Given the description of an element on the screen output the (x, y) to click on. 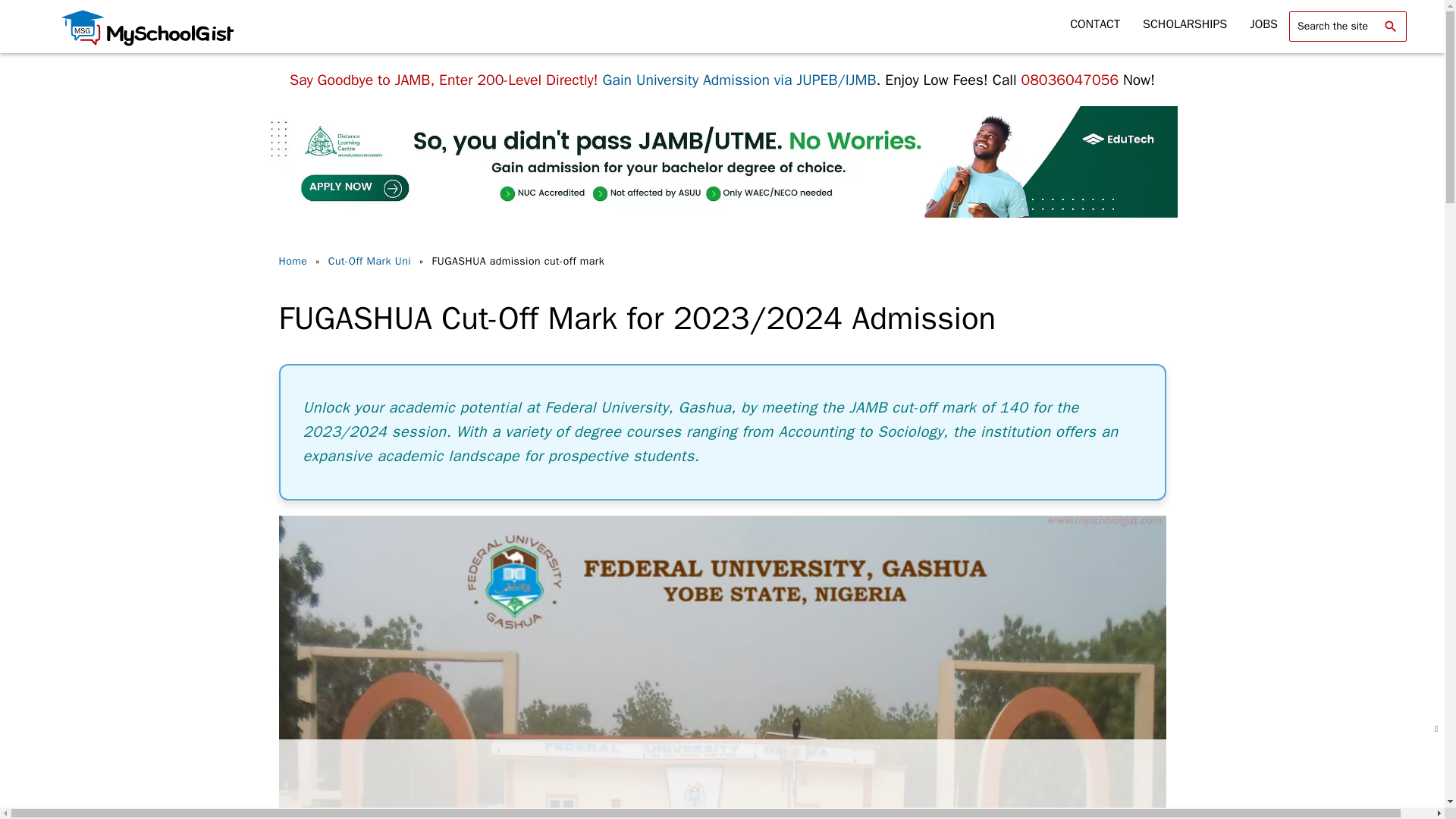
Home (295, 260)
Cut-Off Mark Uni (371, 260)
CONTACT (1094, 23)
JOBS (1263, 23)
Skip to main content (73, 2)
SCHOLARSHIPS (1185, 23)
